Given the description of an element on the screen output the (x, y) to click on. 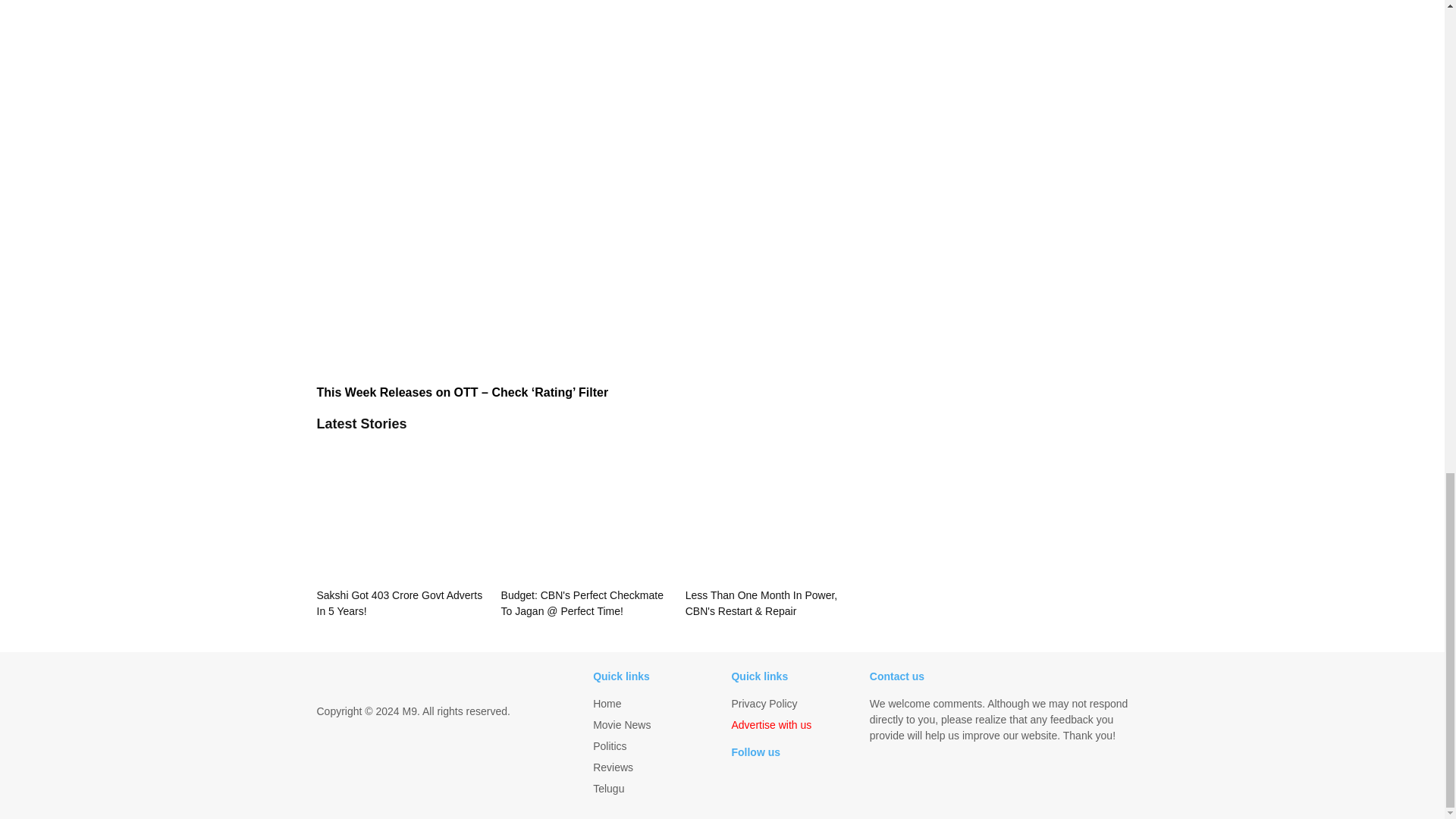
Sakshi Got 403 Crore Govt Adverts In 5 Years! (400, 529)
